Given the description of an element on the screen output the (x, y) to click on. 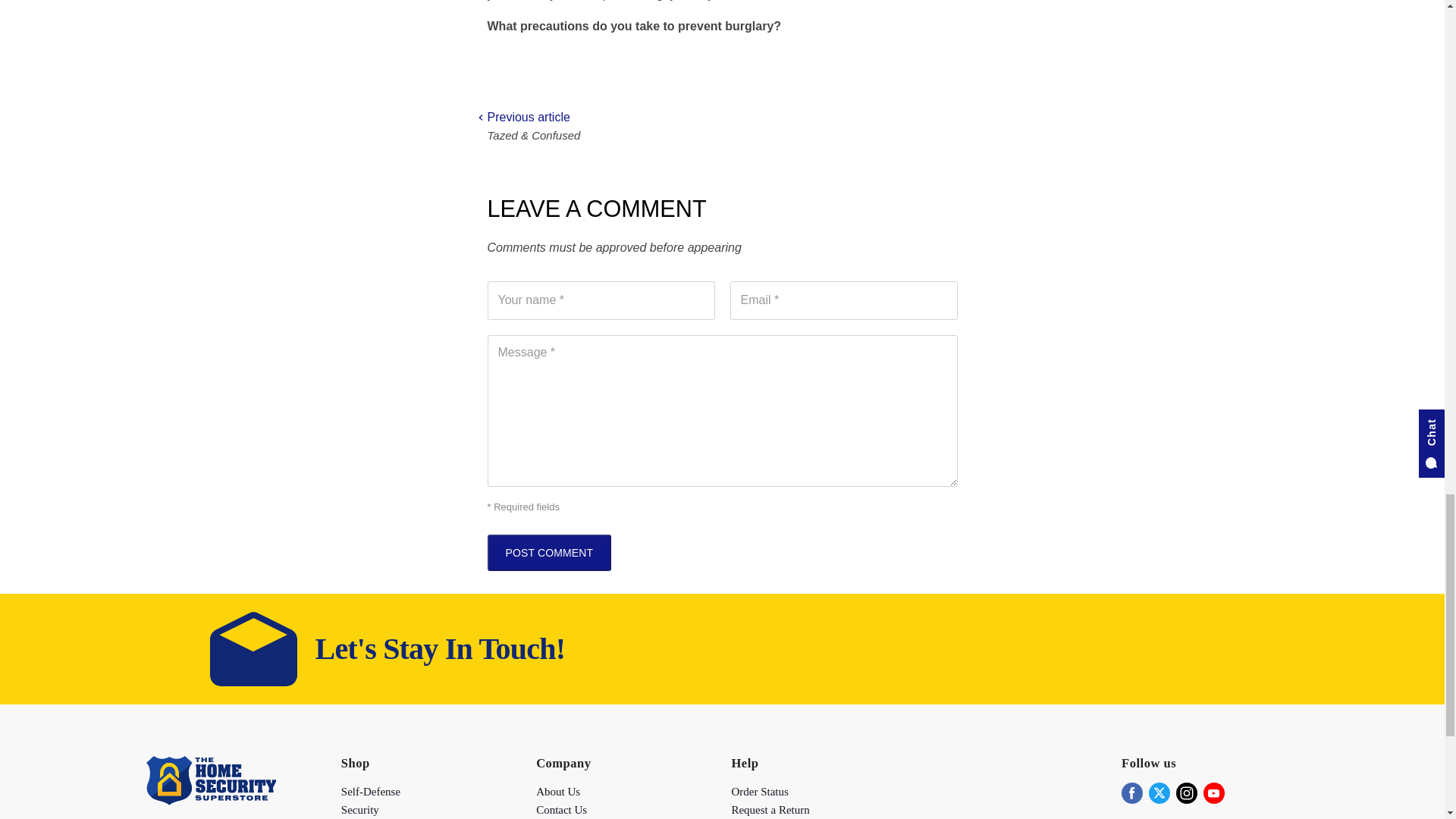
Twitter (1159, 792)
The Home Security Superstore (210, 801)
Facebook (1131, 792)
Youtube (1213, 792)
Instagram (1186, 792)
